Given the description of an element on the screen output the (x, y) to click on. 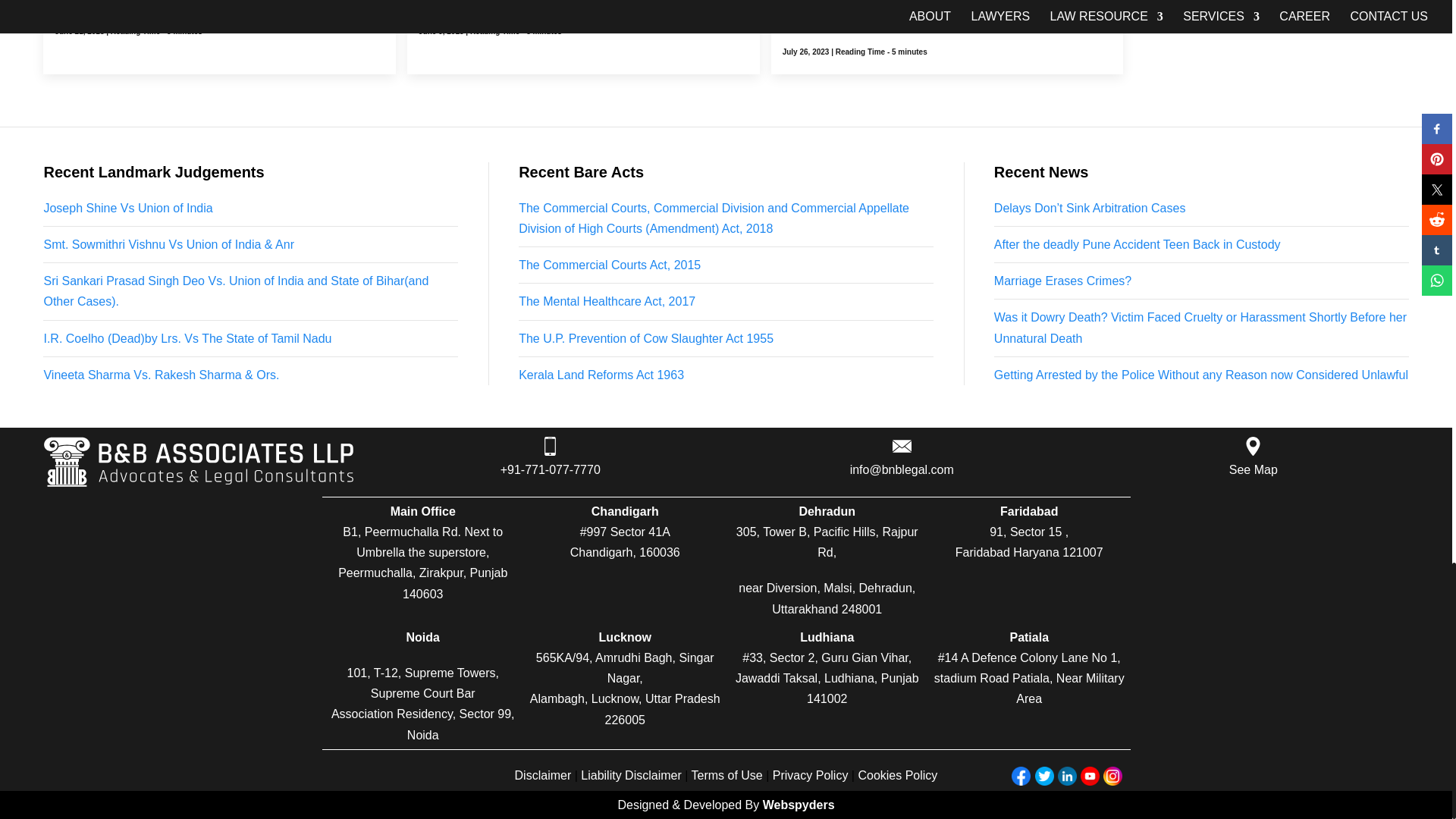
Right To Information (114, 2)
From Public Interest to Personal Gain: The PIL Misuse Menace (938, 12)
Arbitrariness : Antithesis of Article 14 (526, 2)
